Given the description of an element on the screen output the (x, y) to click on. 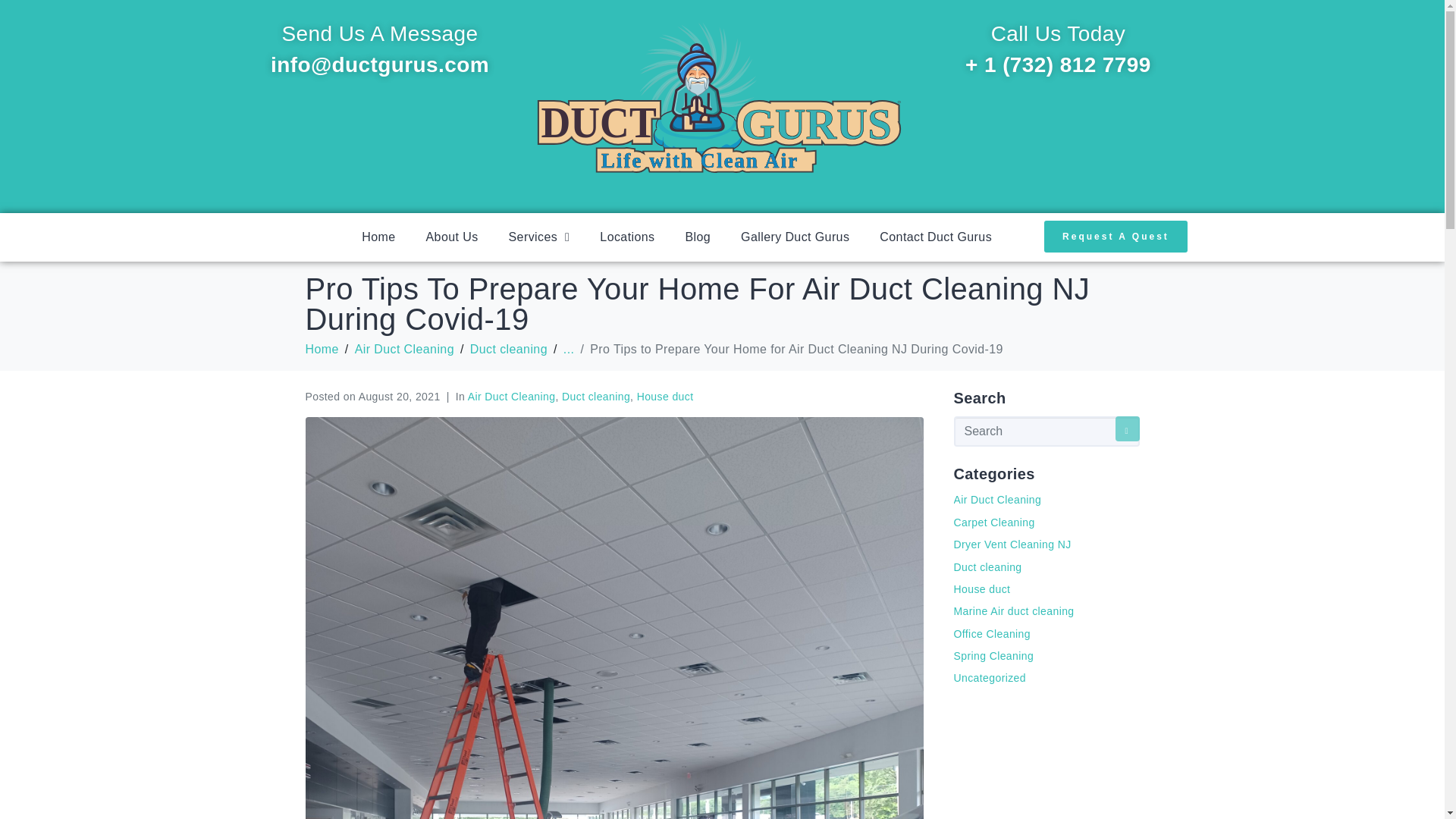
About Us (451, 236)
Services (539, 236)
Home (378, 236)
